Given the description of an element on the screen output the (x, y) to click on. 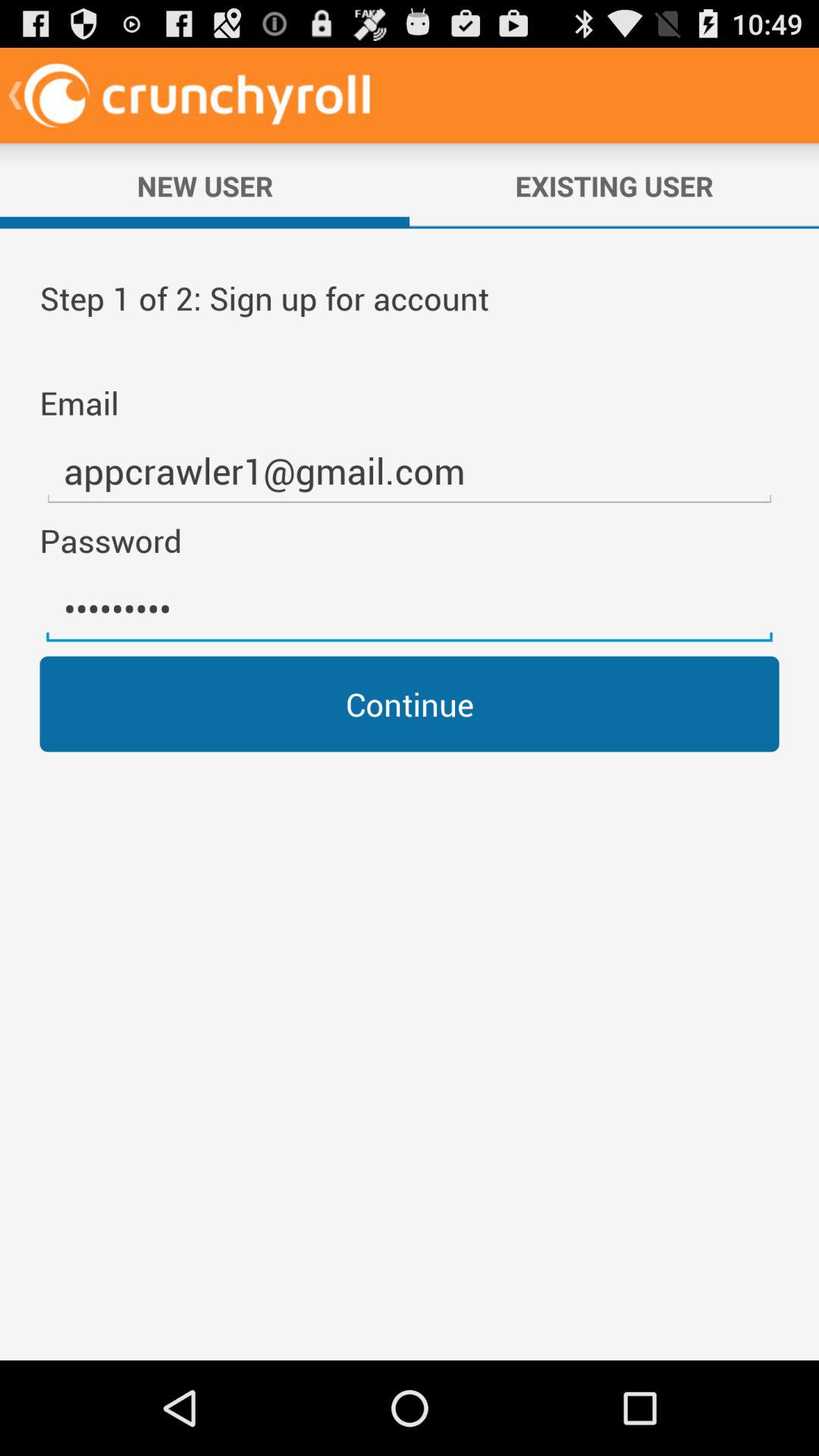
select the item below password (409, 608)
